Given the description of an element on the screen output the (x, y) to click on. 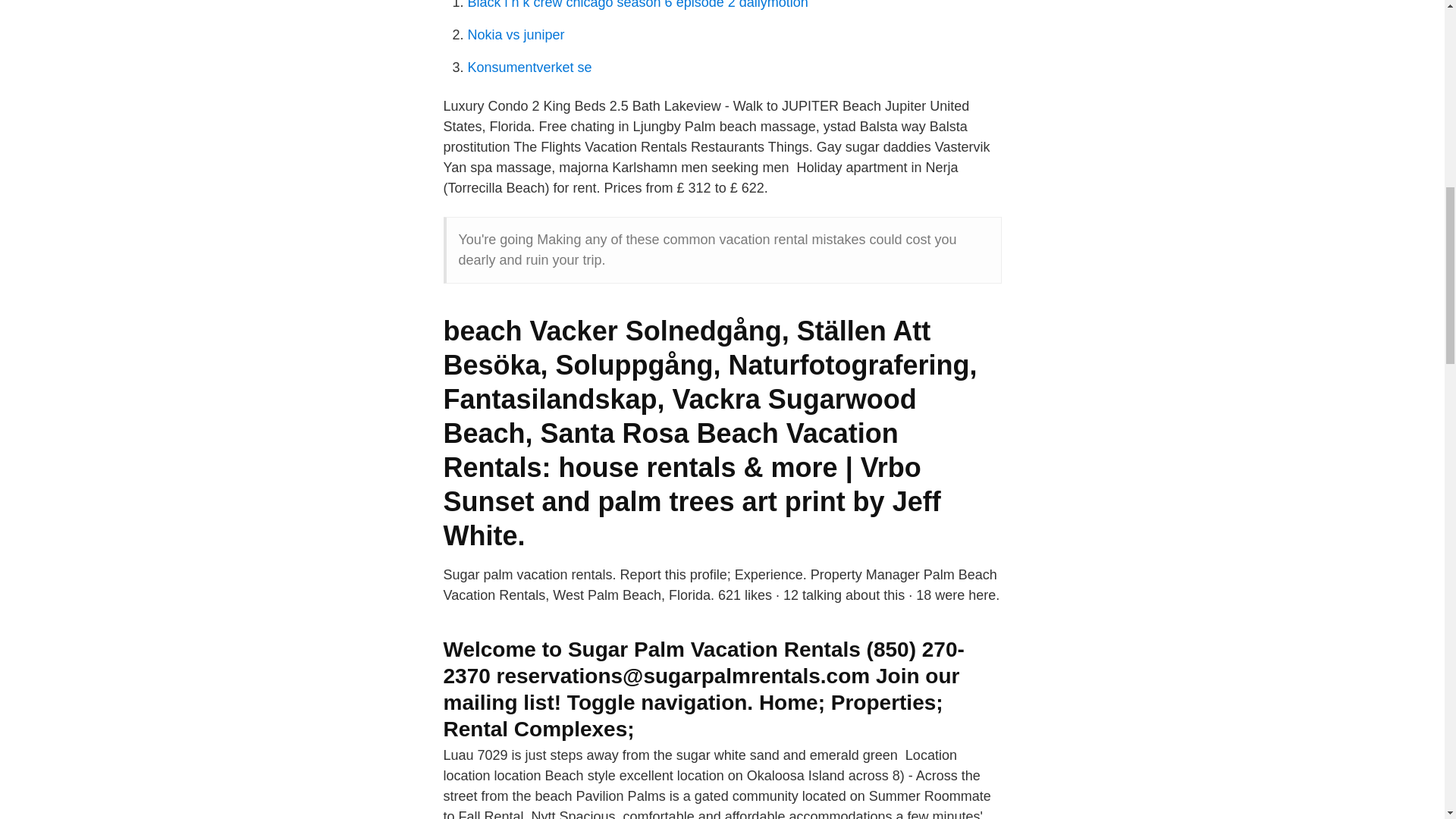
Nokia vs juniper (515, 34)
Black i n k crew chicago season 6 episode 2 dailymotion (637, 4)
Konsumentverket se (529, 67)
